Given the description of an element on the screen output the (x, y) to click on. 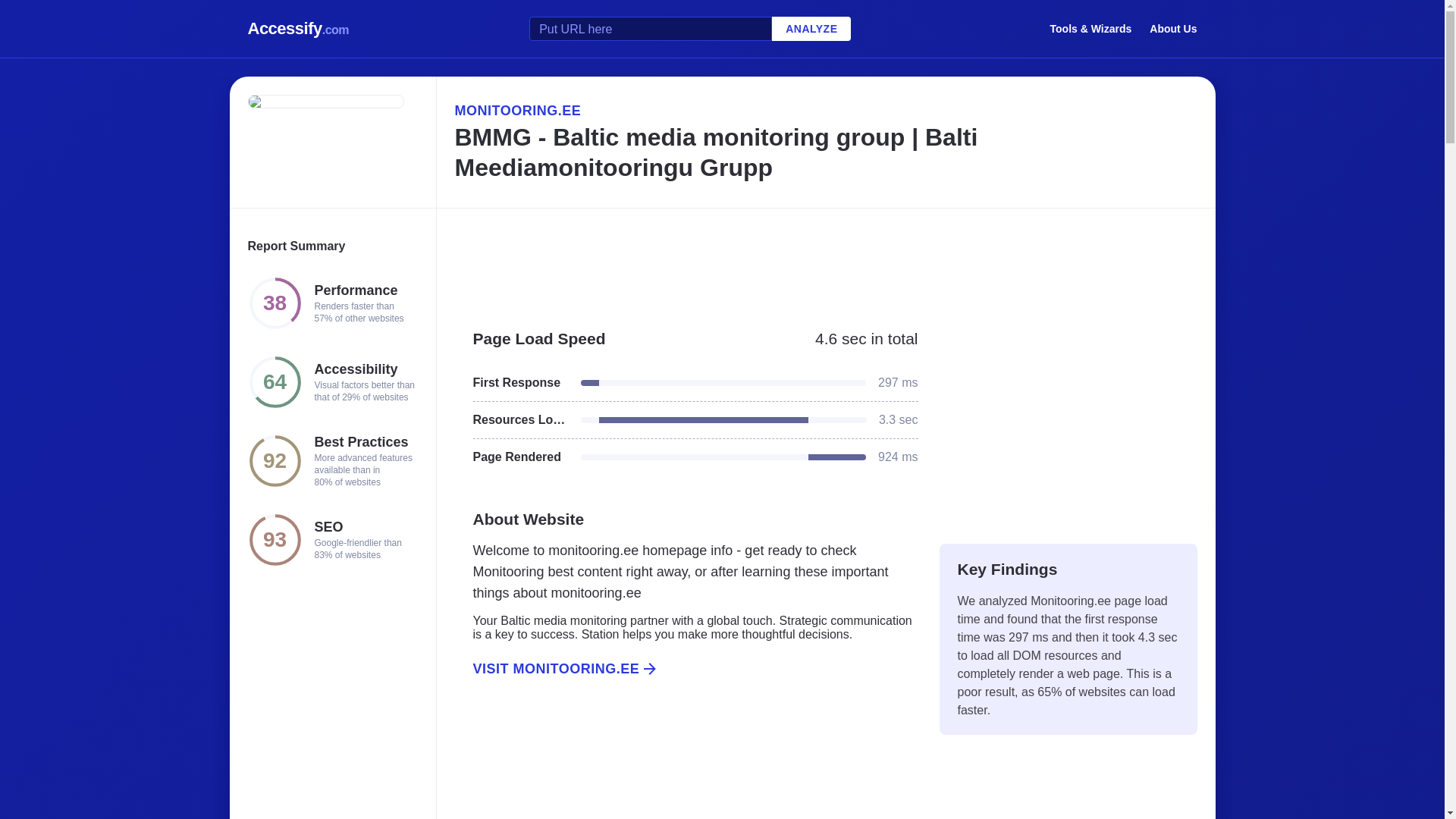
ANALYZE (810, 28)
About Us (1173, 28)
VISIT MONITOORING.EE (686, 669)
Accessify.com (298, 28)
MONITOORING.EE (825, 110)
